Given the description of an element on the screen output the (x, y) to click on. 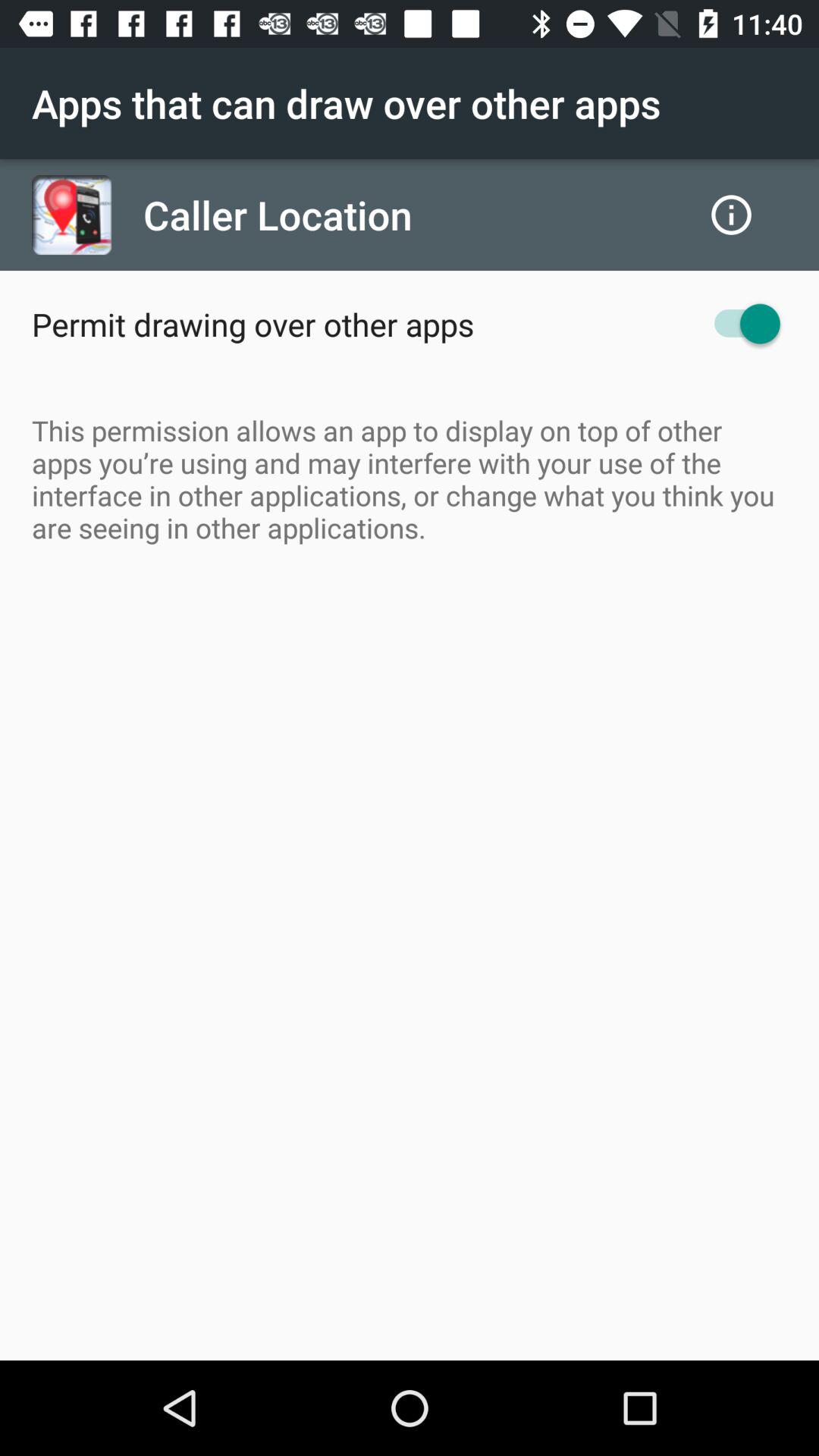
jump until the this permission allows (409, 478)
